Given the description of an element on the screen output the (x, y) to click on. 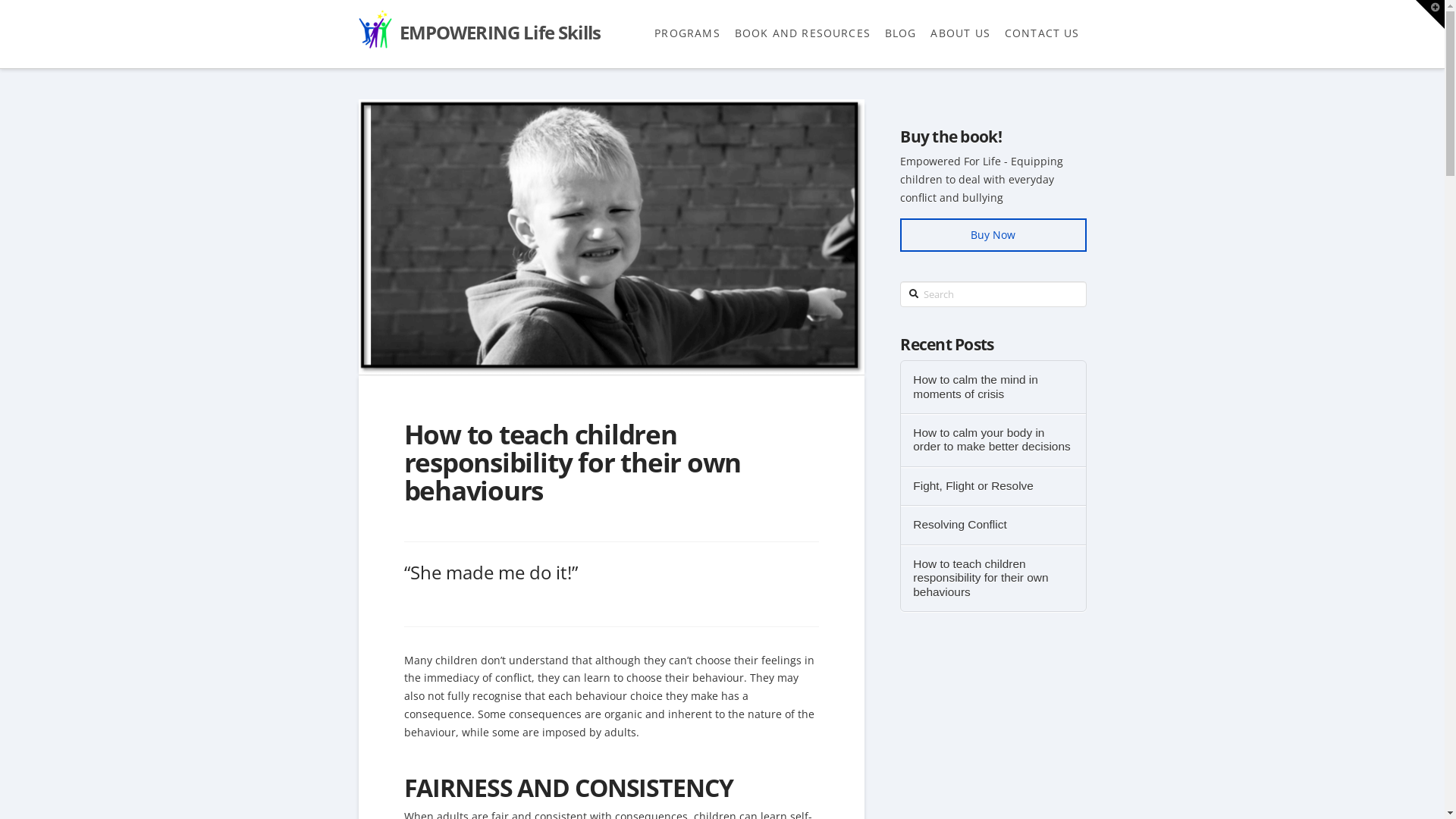
Resolving Conflict Element type: text (993, 524)
PROGRAMS Element type: text (686, 34)
Buy Now Element type: text (992, 234)
CONTACT US Element type: text (1041, 34)
Toggle the Widgetbar Element type: text (1429, 14)
BLOG Element type: text (900, 34)
How to calm the mind in moments of crisis Element type: text (993, 387)
ABOUT US Element type: text (959, 34)
How to calm your body in order to make better decisions Element type: text (993, 440)
Fight, Flight or Resolve Element type: text (993, 486)
BOOK AND RESOURCES Element type: text (802, 34)
